Given the description of an element on the screen output the (x, y) to click on. 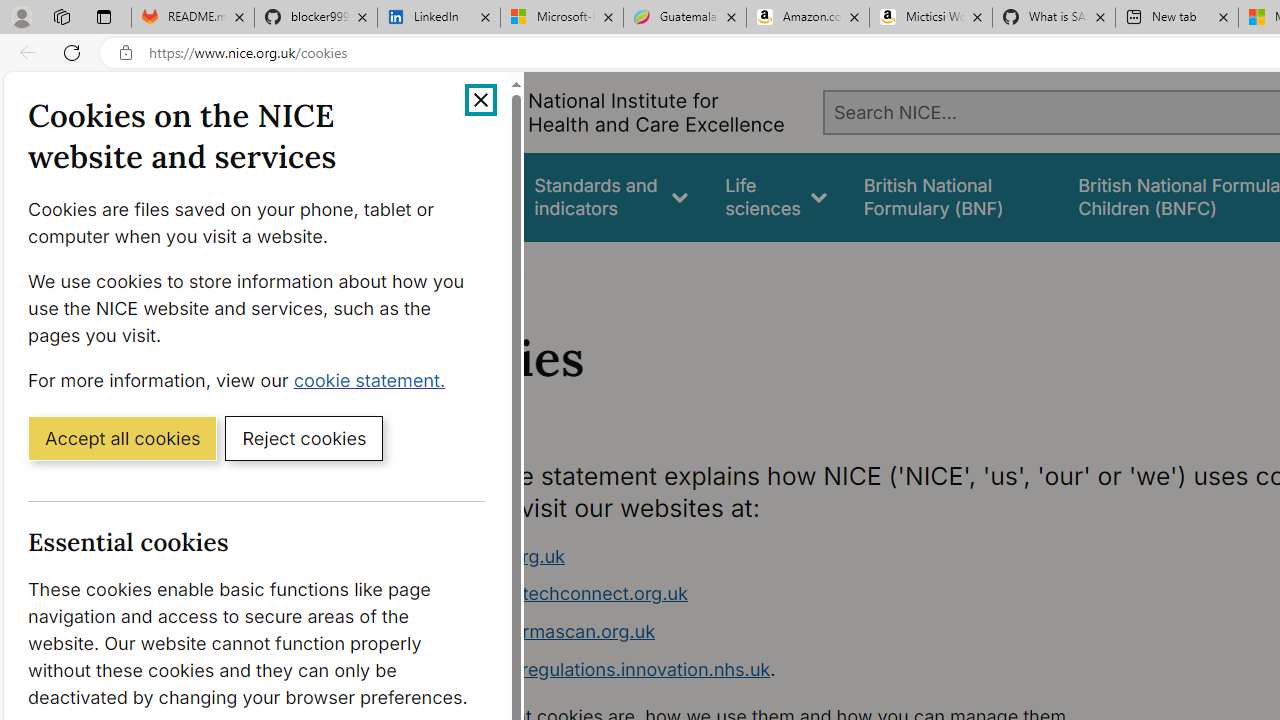
www.healthtechconnect.org.uk (554, 593)
Life sciences (776, 196)
false (952, 196)
www.nice.org.uk (796, 556)
www.nice.org.uk (492, 556)
